Given the description of an element on the screen output the (x, y) to click on. 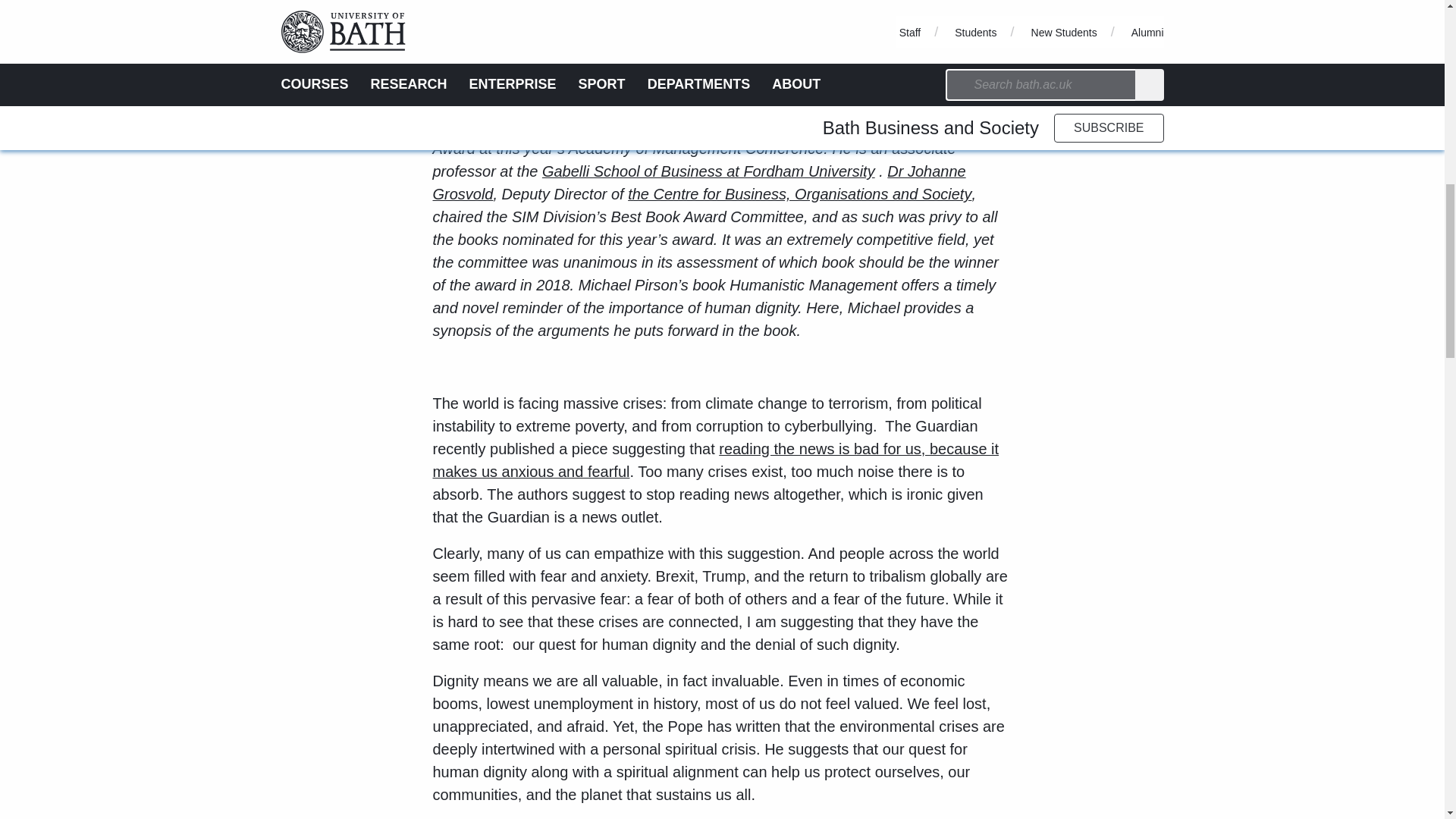
Dr Johanne Grosvold (698, 182)
the Centre for Business, Organisations and Society (799, 193)
Michael Pirson (481, 125)
Gabelli School of Business at Fordham University (708, 170)
